Given the description of an element on the screen output the (x, y) to click on. 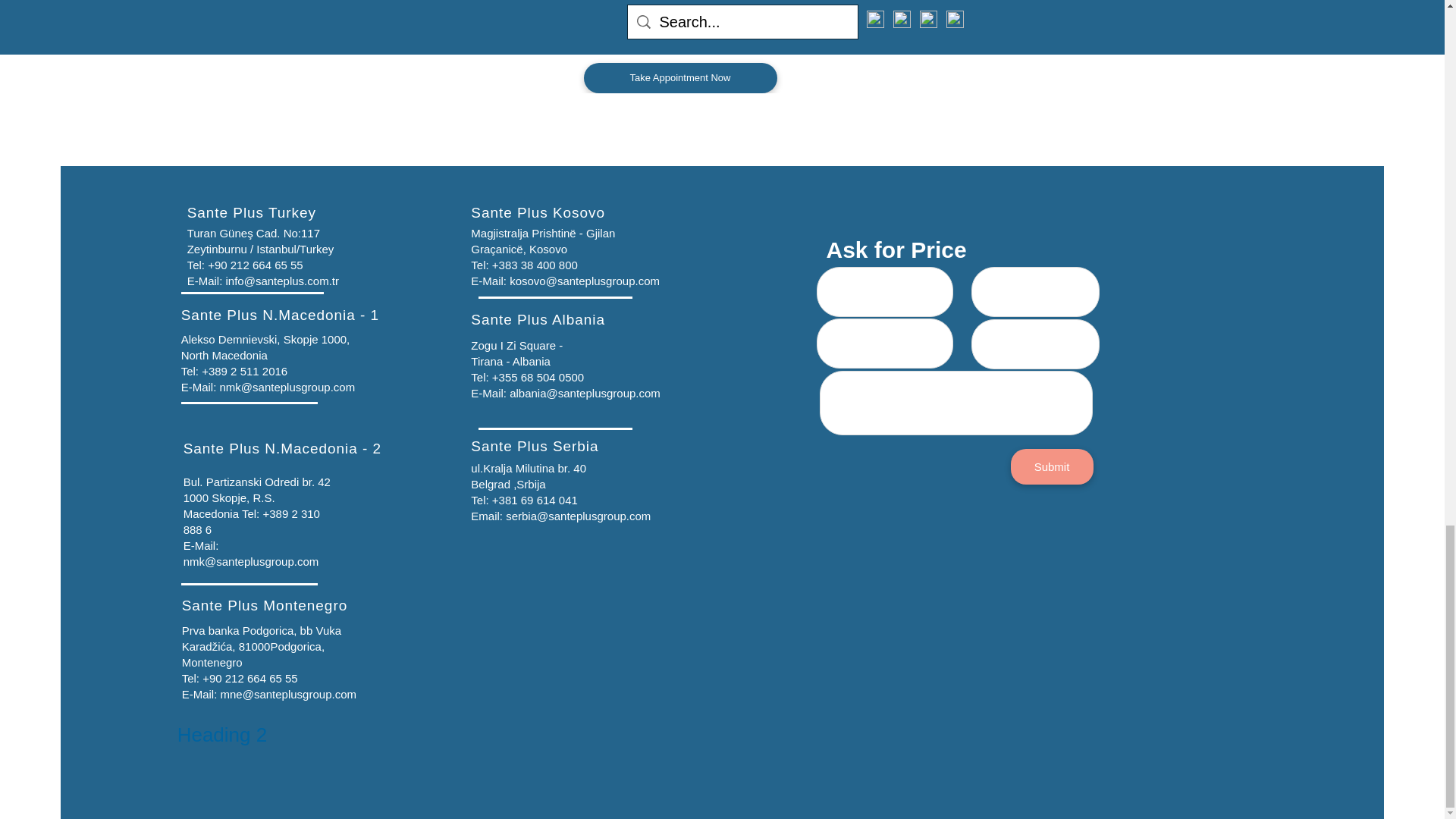
Take Appointment Now (680, 78)
Submit (1051, 466)
